Given the description of an element on the screen output the (x, y) to click on. 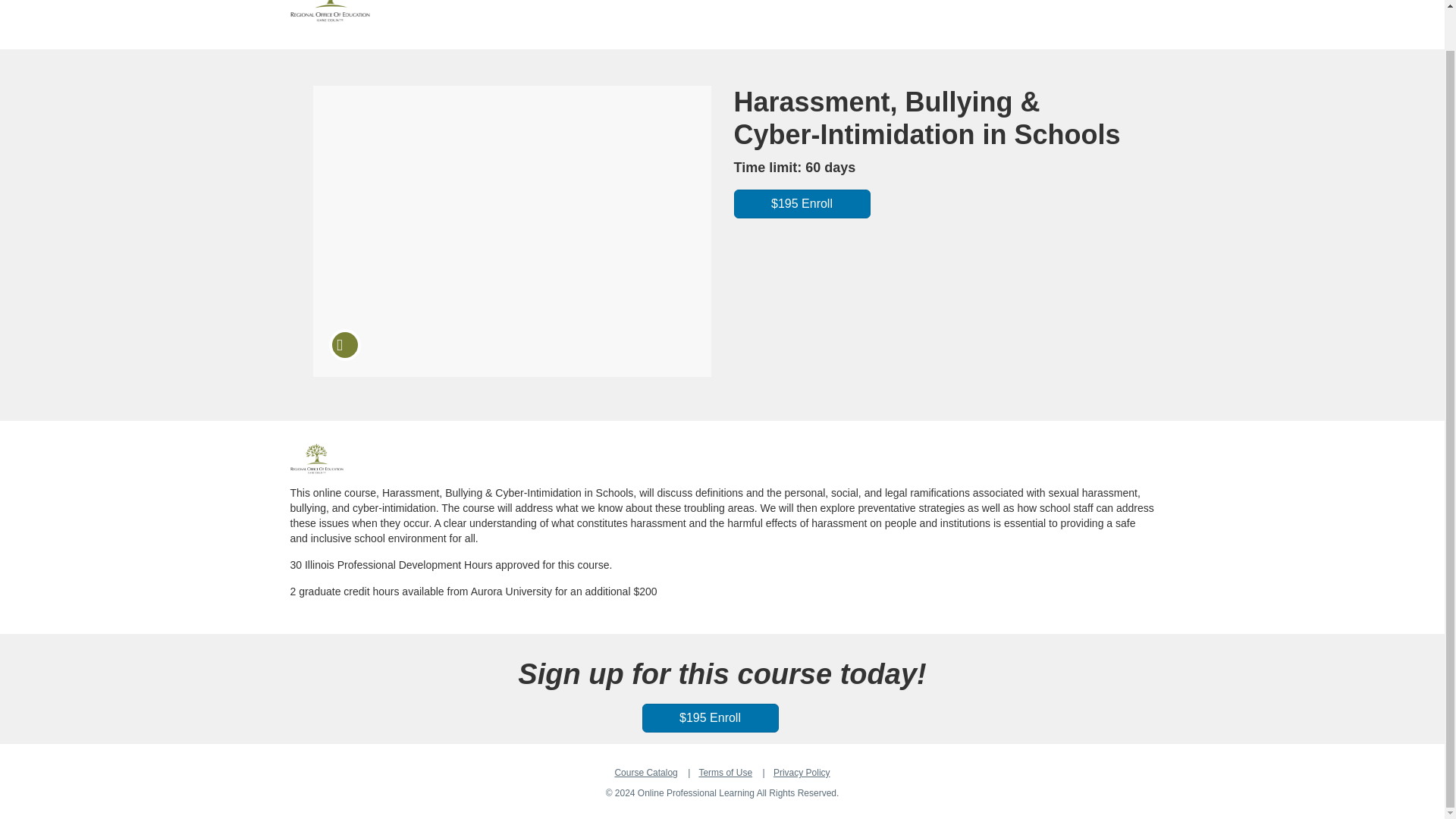
Terms of Use (725, 772)
Online Professional Learning (315, 458)
Course (345, 345)
Privacy Policy (801, 772)
Course Catalog (645, 772)
